Given the description of an element on the screen output the (x, y) to click on. 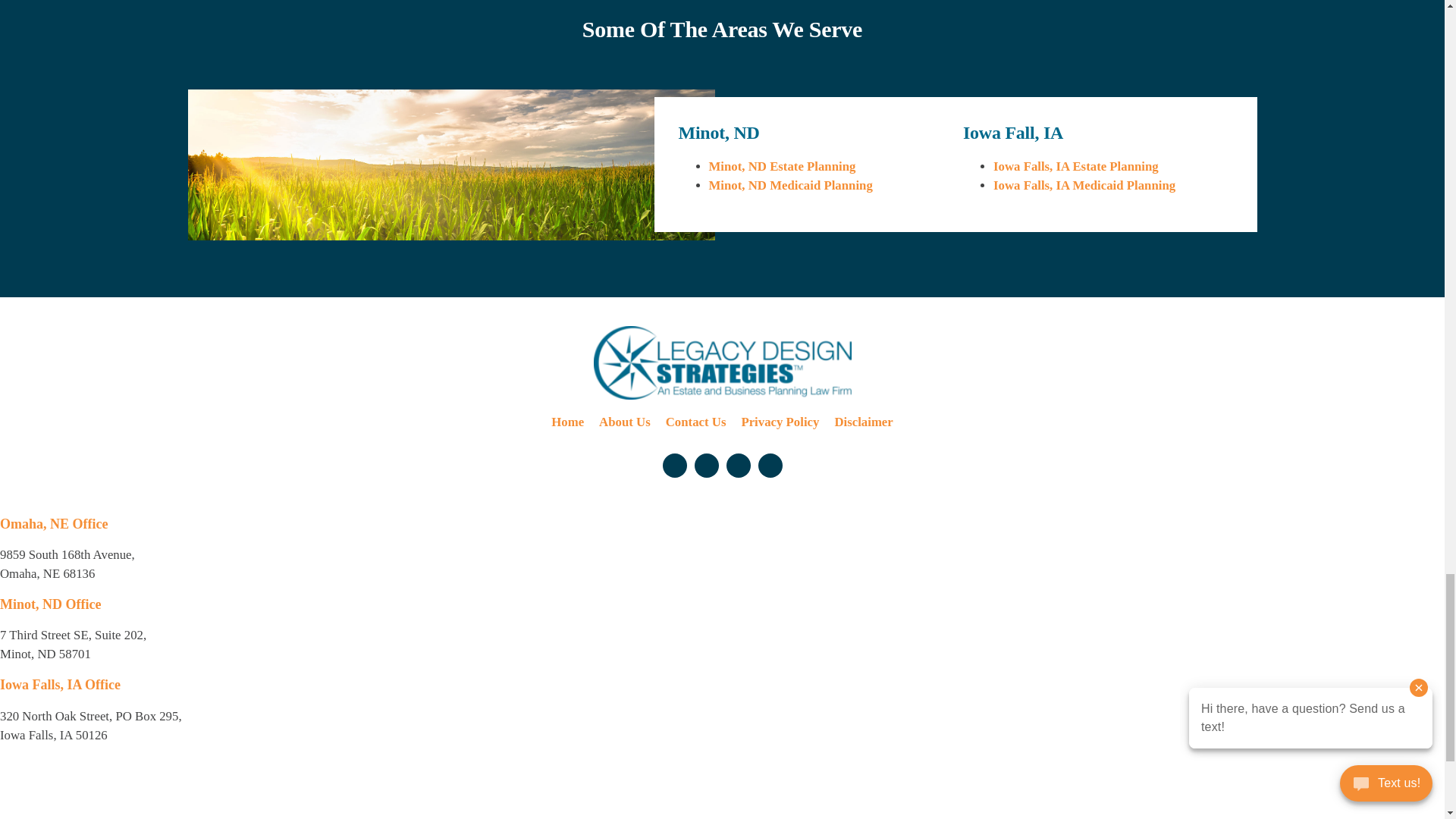
Areas We Serve (450, 164)
